Given the description of an element on the screen output the (x, y) to click on. 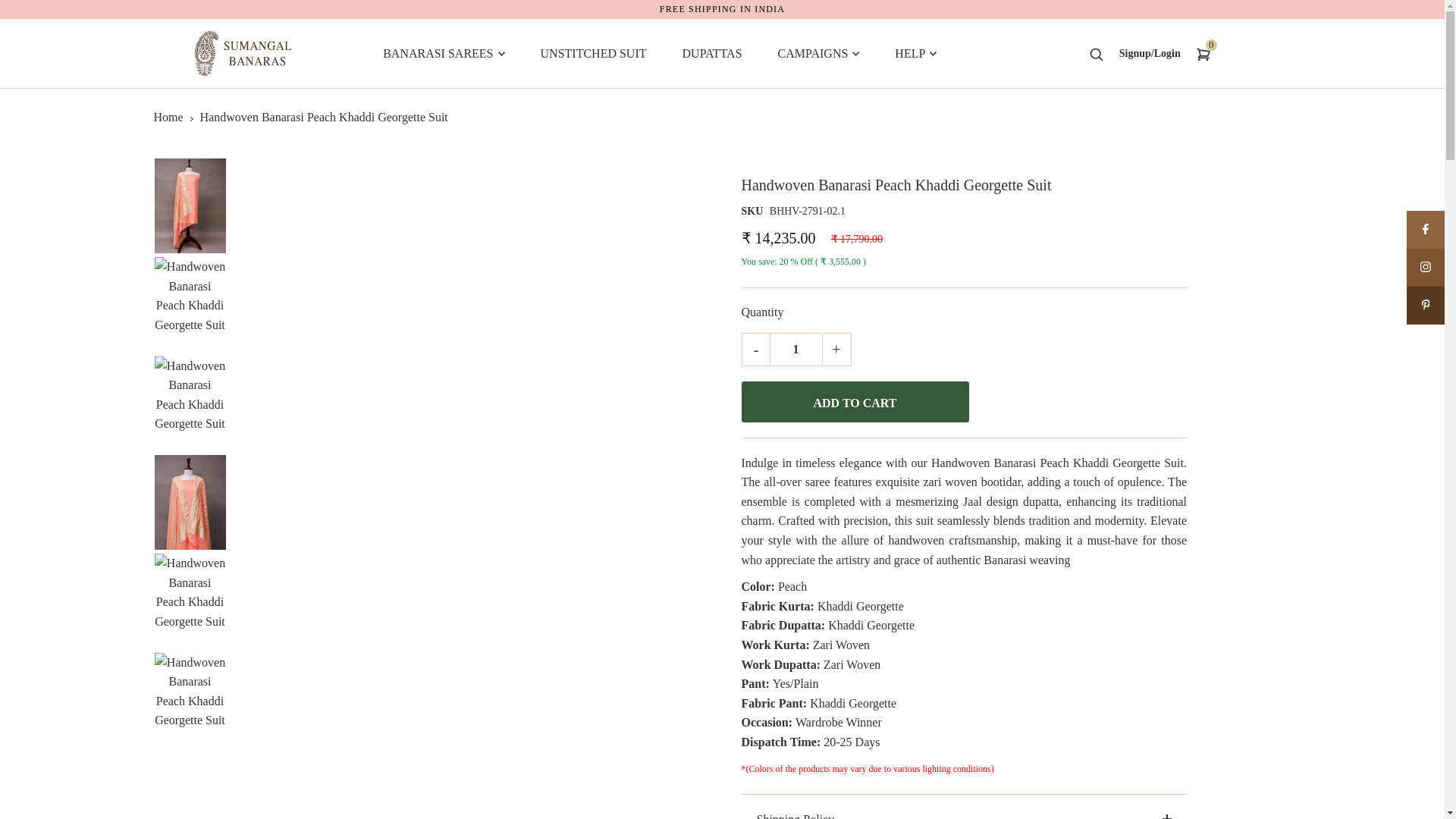
ADD TO CART (855, 401)
1 (795, 349)
Home (167, 116)
